Given the description of an element on the screen output the (x, y) to click on. 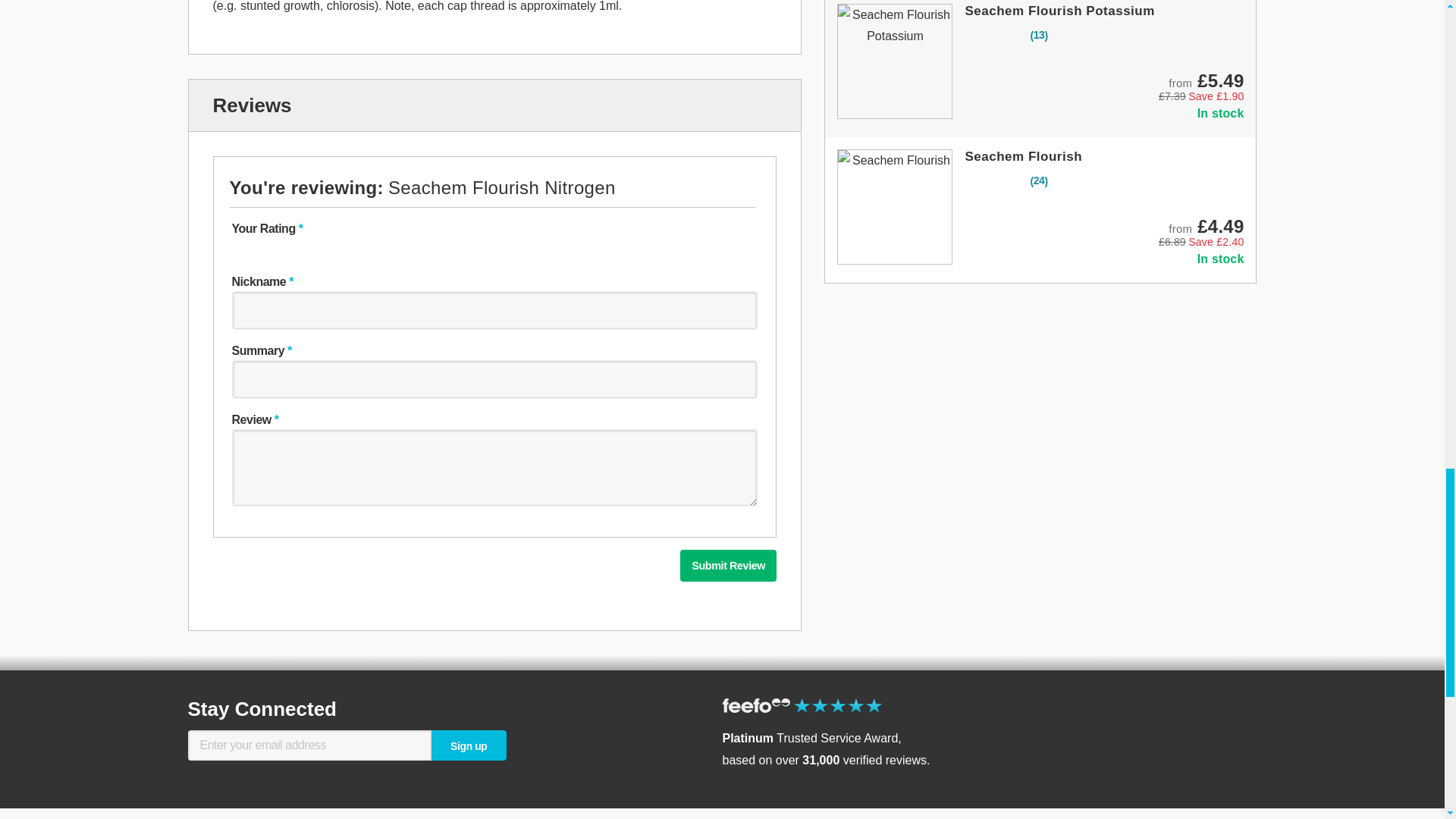
5 stars (361, 249)
1 star (245, 249)
3 stars (303, 249)
2 stars (274, 249)
4 stars (332, 249)
